Given the description of an element on the screen output the (x, y) to click on. 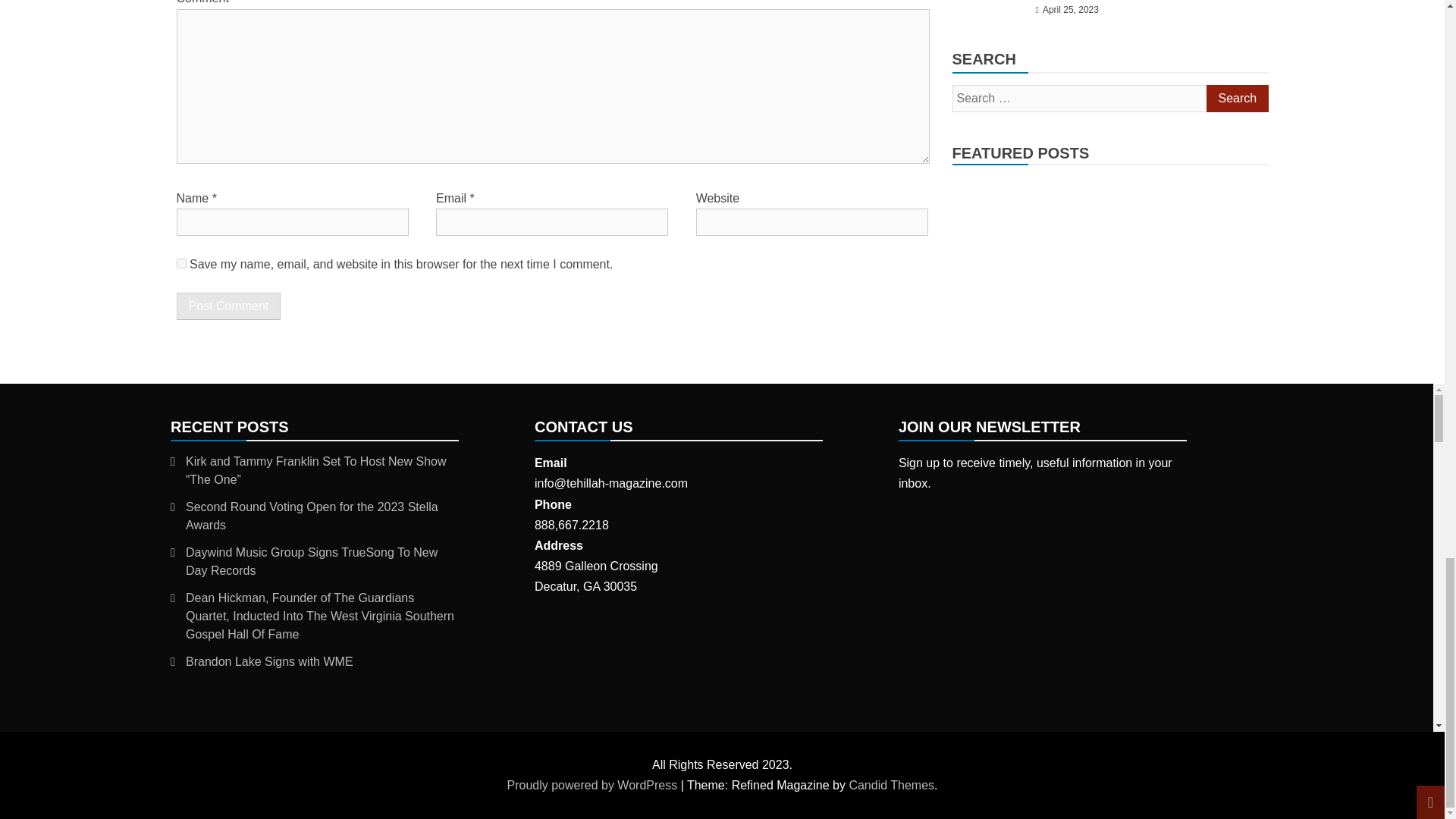
Post Comment (228, 306)
Search (1236, 98)
Search (1236, 98)
yes (181, 263)
